Given the description of an element on the screen output the (x, y) to click on. 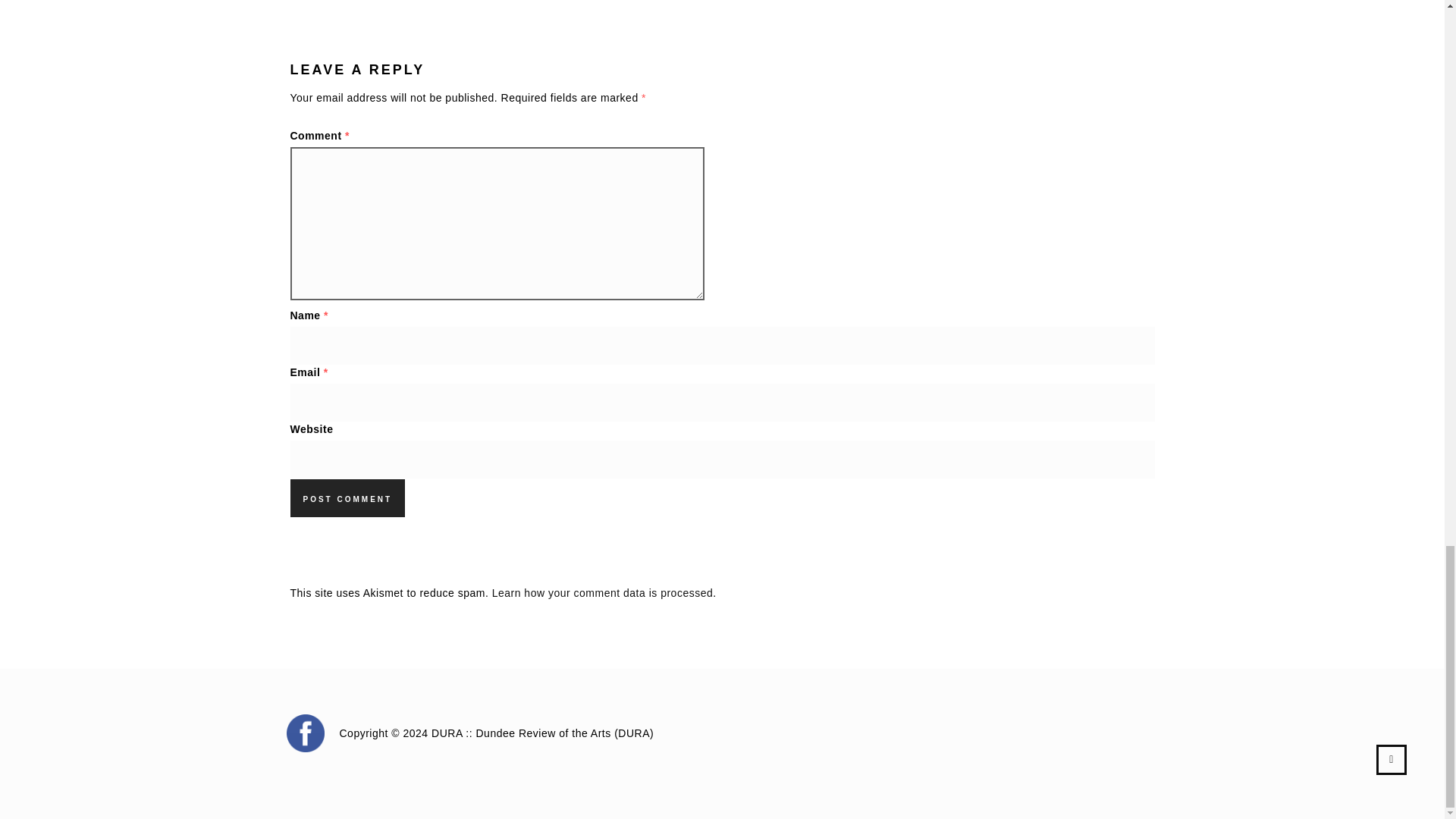
Post Comment (346, 497)
Learn how your comment data is processed (602, 592)
Post Comment (346, 497)
